Given the description of an element on the screen output the (x, y) to click on. 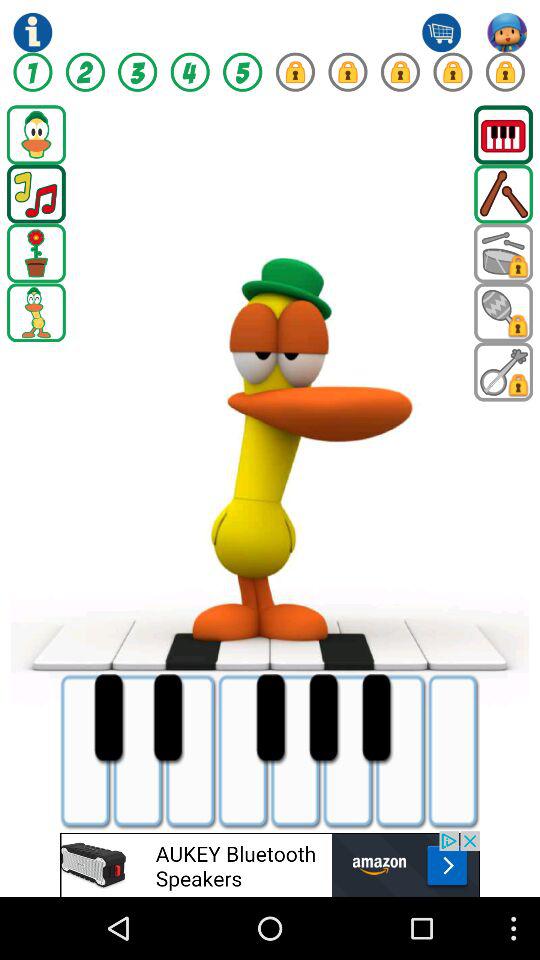
screen selection (36, 134)
